Given the description of an element on the screen output the (x, y) to click on. 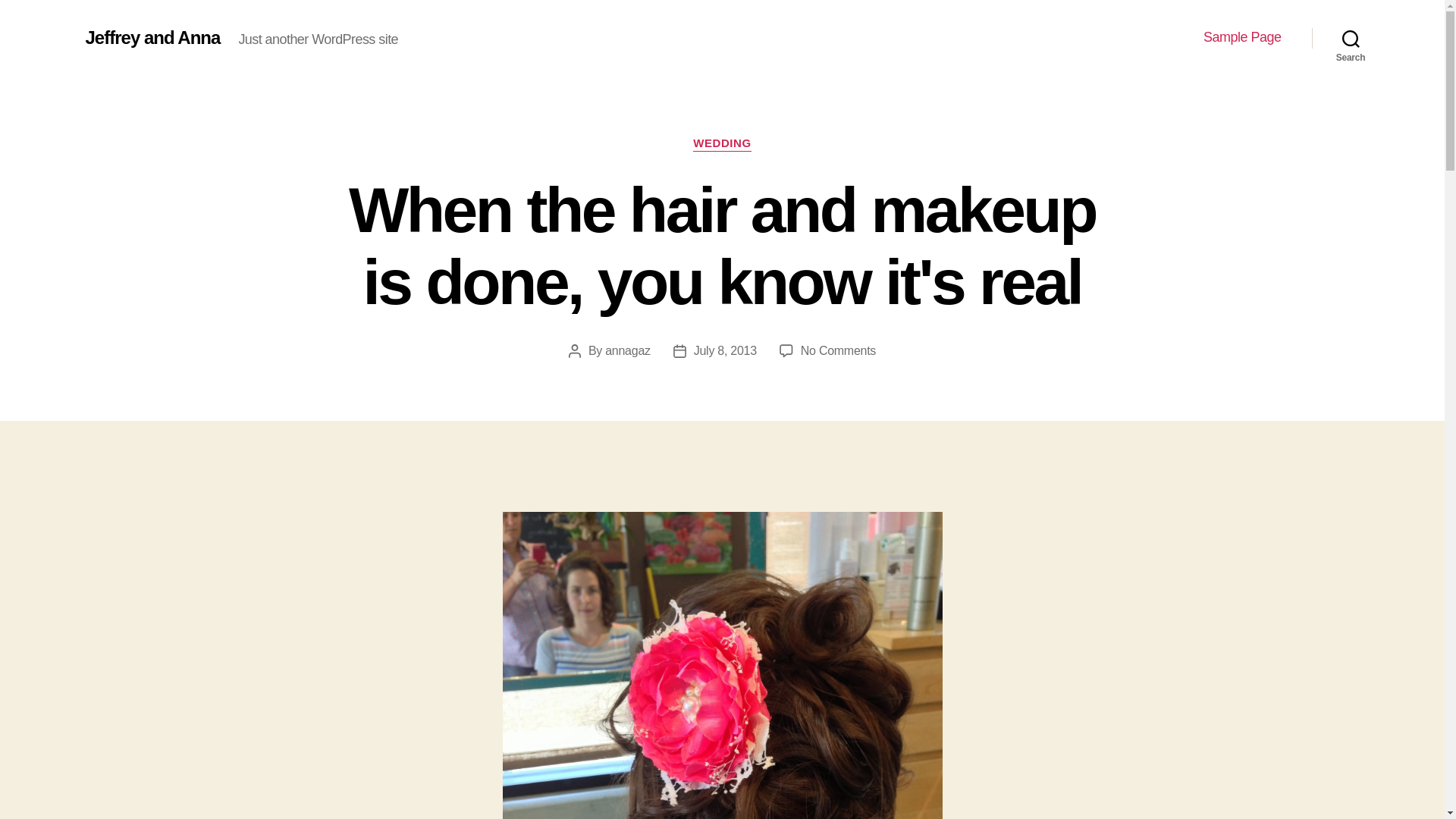
WEDDING (722, 143)
Jeffrey and Anna (151, 37)
July 8, 2013 (725, 350)
Search (1350, 37)
Sample Page (1242, 37)
annagaz (627, 350)
